Given the description of an element on the screen output the (x, y) to click on. 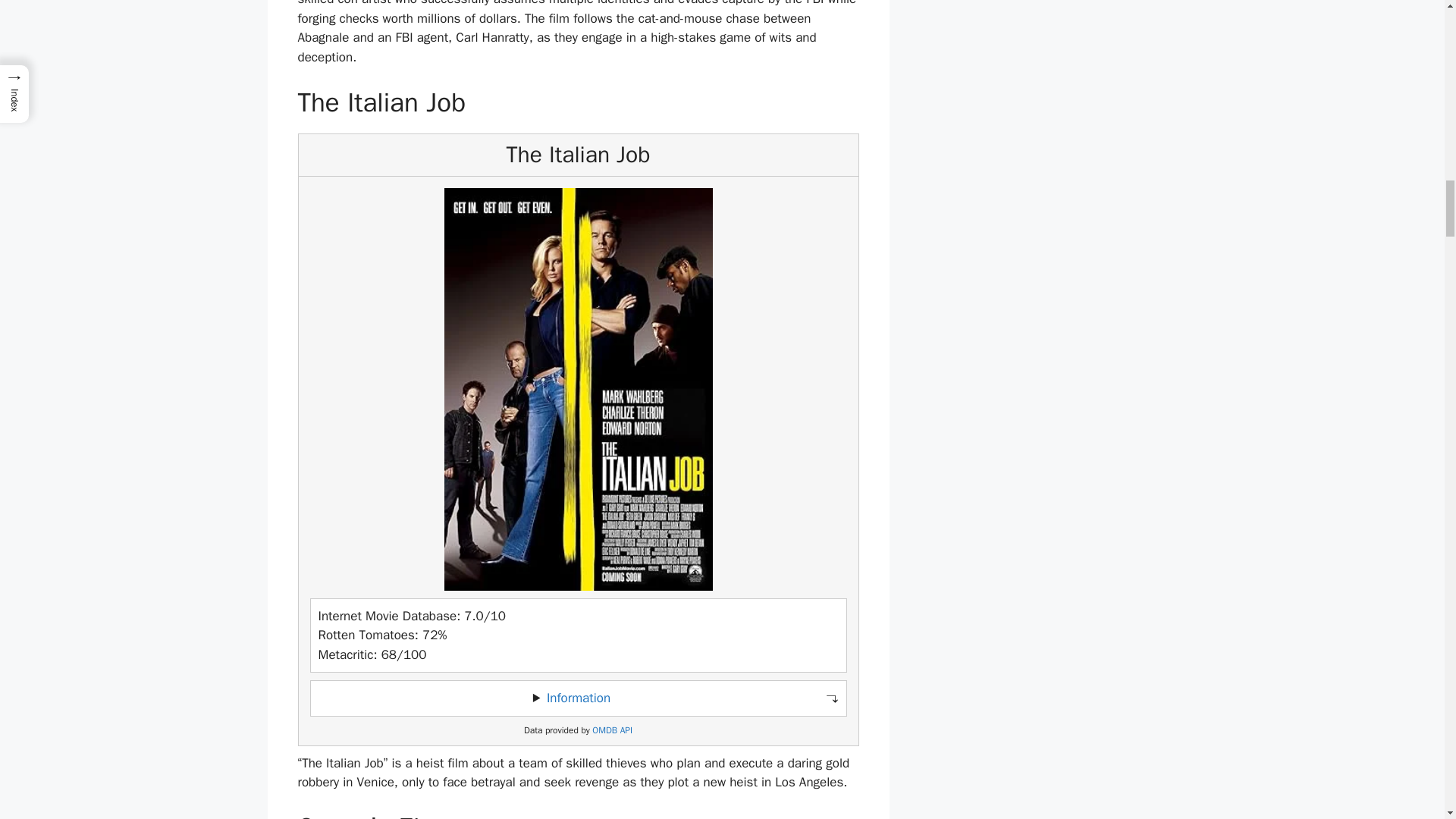
OMDB API (611, 730)
Open Movie Database API (611, 730)
Information (578, 697)
Toggle information (578, 697)
